Given the description of an element on the screen output the (x, y) to click on. 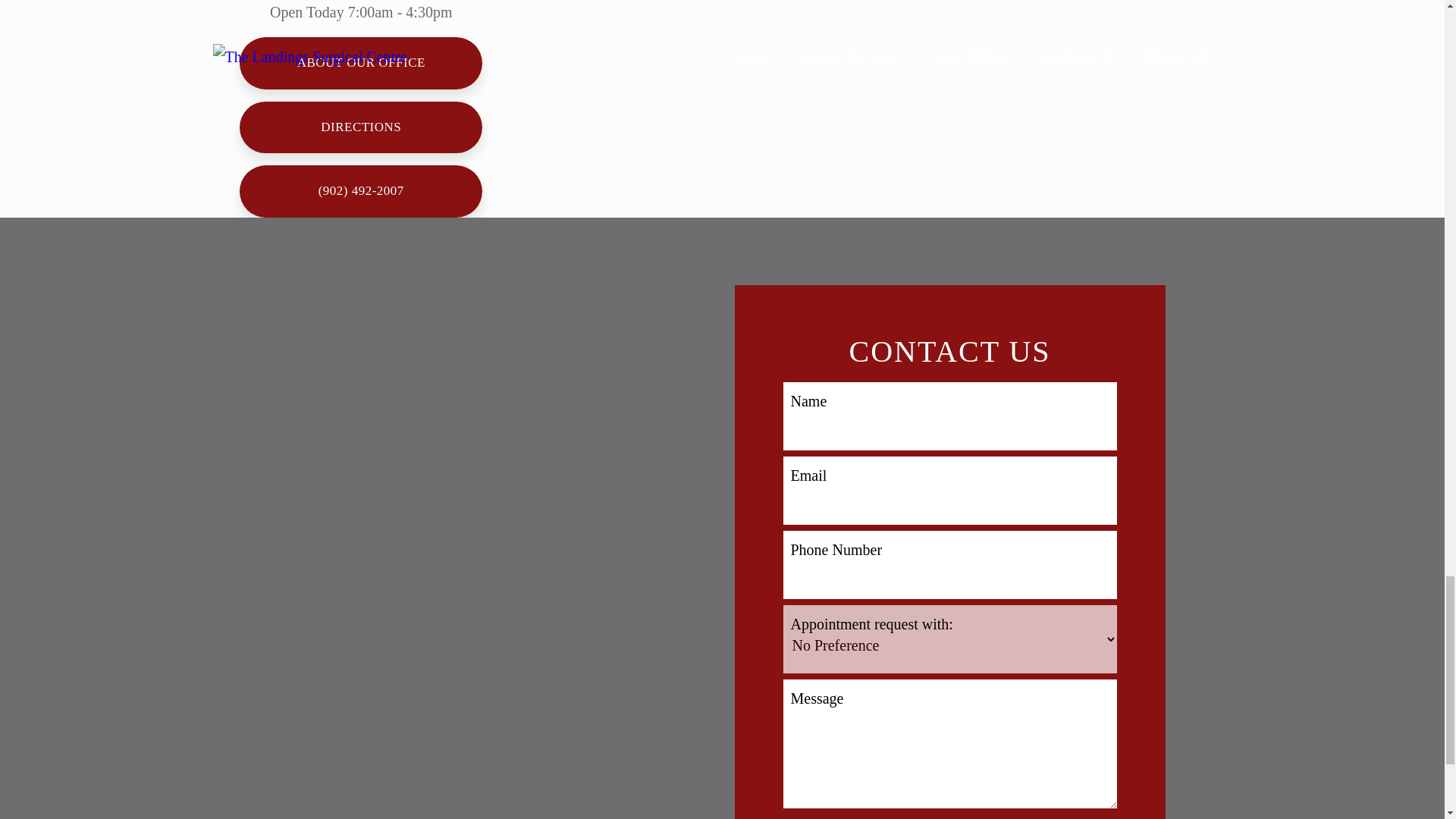
DIRECTIONS (360, 127)
ABOUT OUR OFFICE (360, 62)
